Given the description of an element on the screen output the (x, y) to click on. 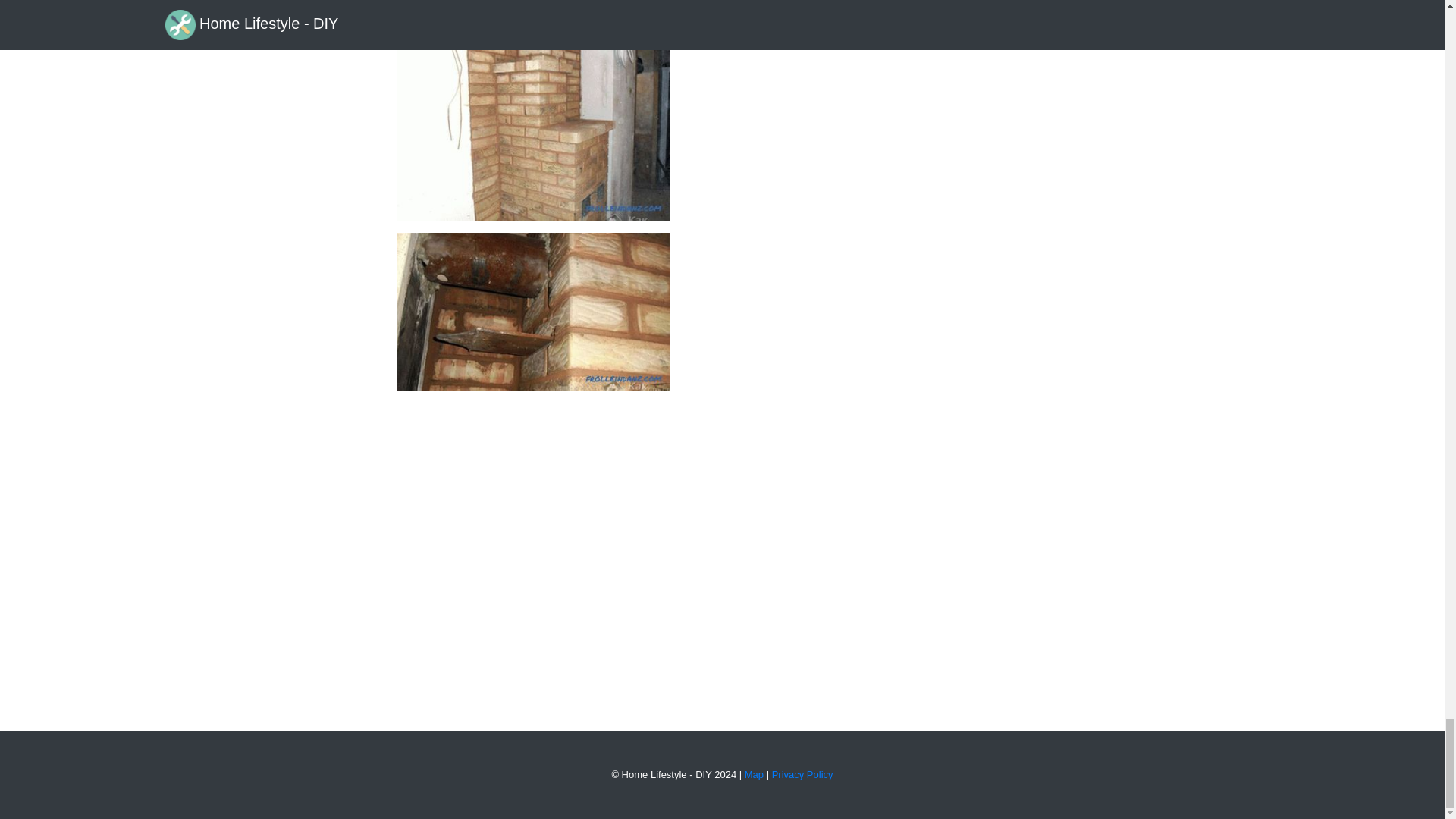
Map (753, 774)
Privacy Policy (801, 774)
